Given the description of an element on the screen output the (x, y) to click on. 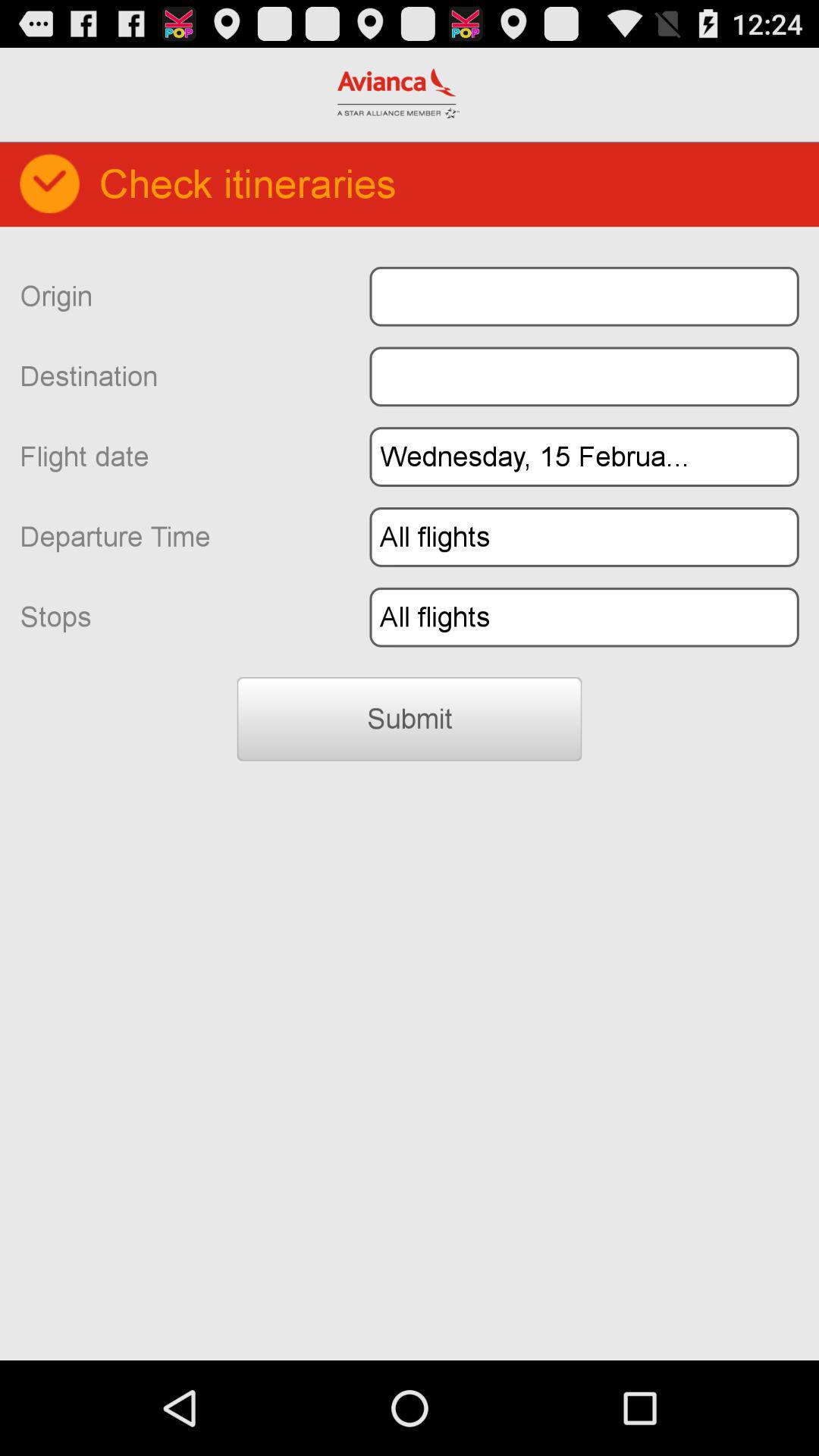
choose the item next to the destination icon (584, 376)
